Given the description of an element on the screen output the (x, y) to click on. 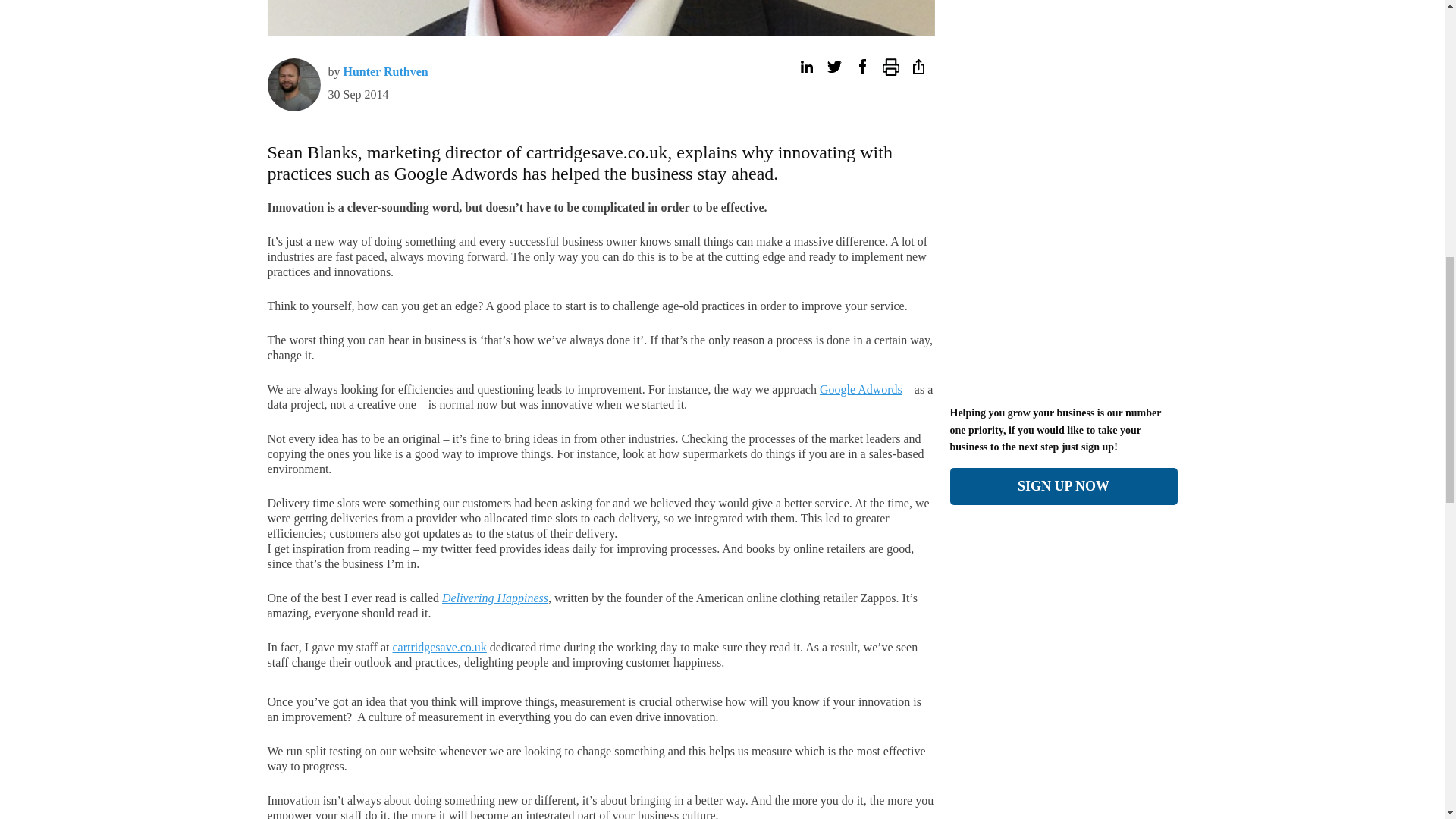
3rd party ad content (195, 4)
Print this article (890, 67)
3rd party ad content (1062, 705)
3rd party ad content (1062, 4)
Tweet this article (835, 67)
Share on Facebook (861, 67)
3rd party ad content (1249, 4)
Share on LinkedIn (805, 67)
3rd party ad content (1062, 294)
